Given the description of an element on the screen output the (x, y) to click on. 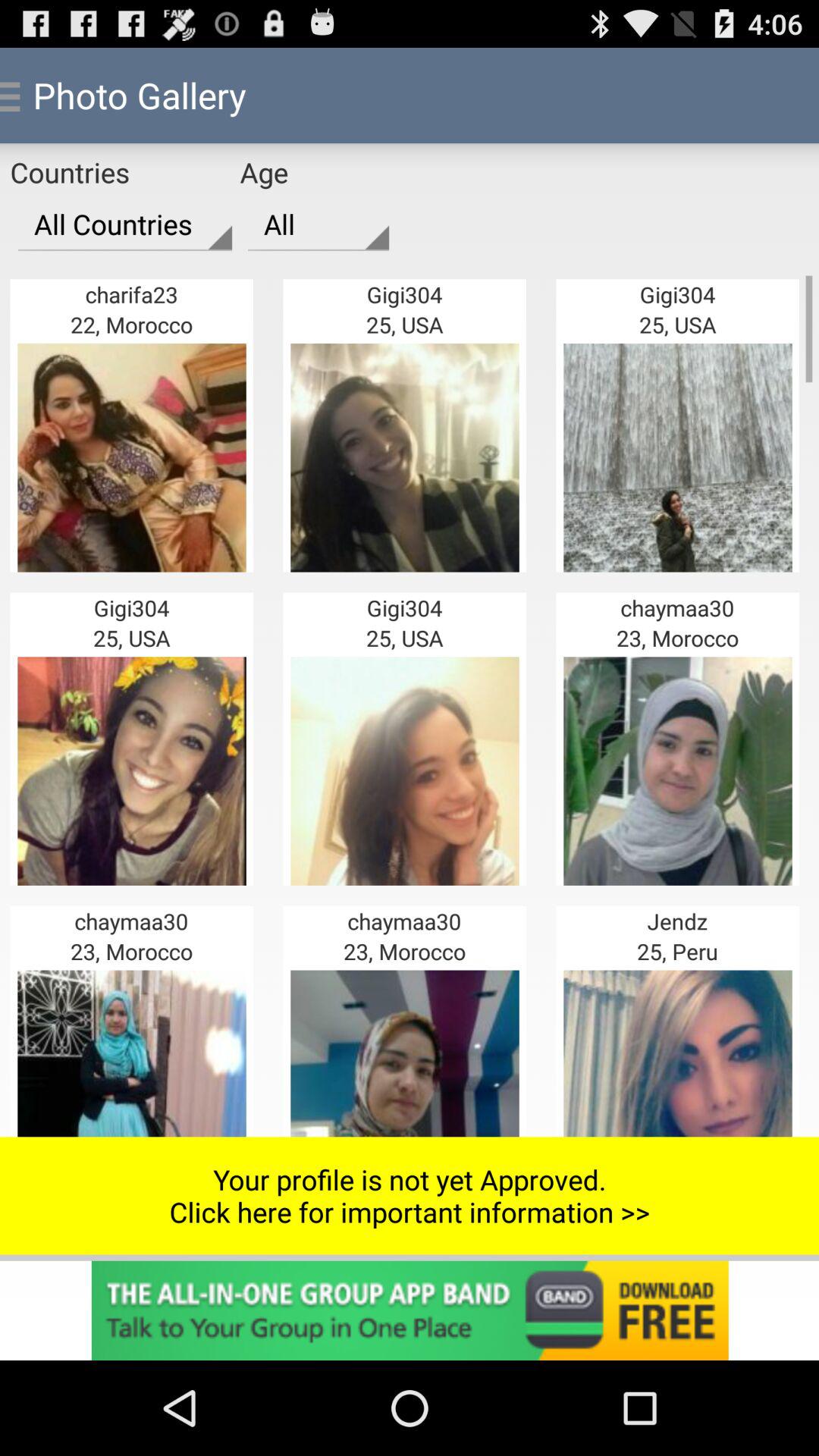
open advertisement (409, 1310)
